Given the description of an element on the screen output the (x, y) to click on. 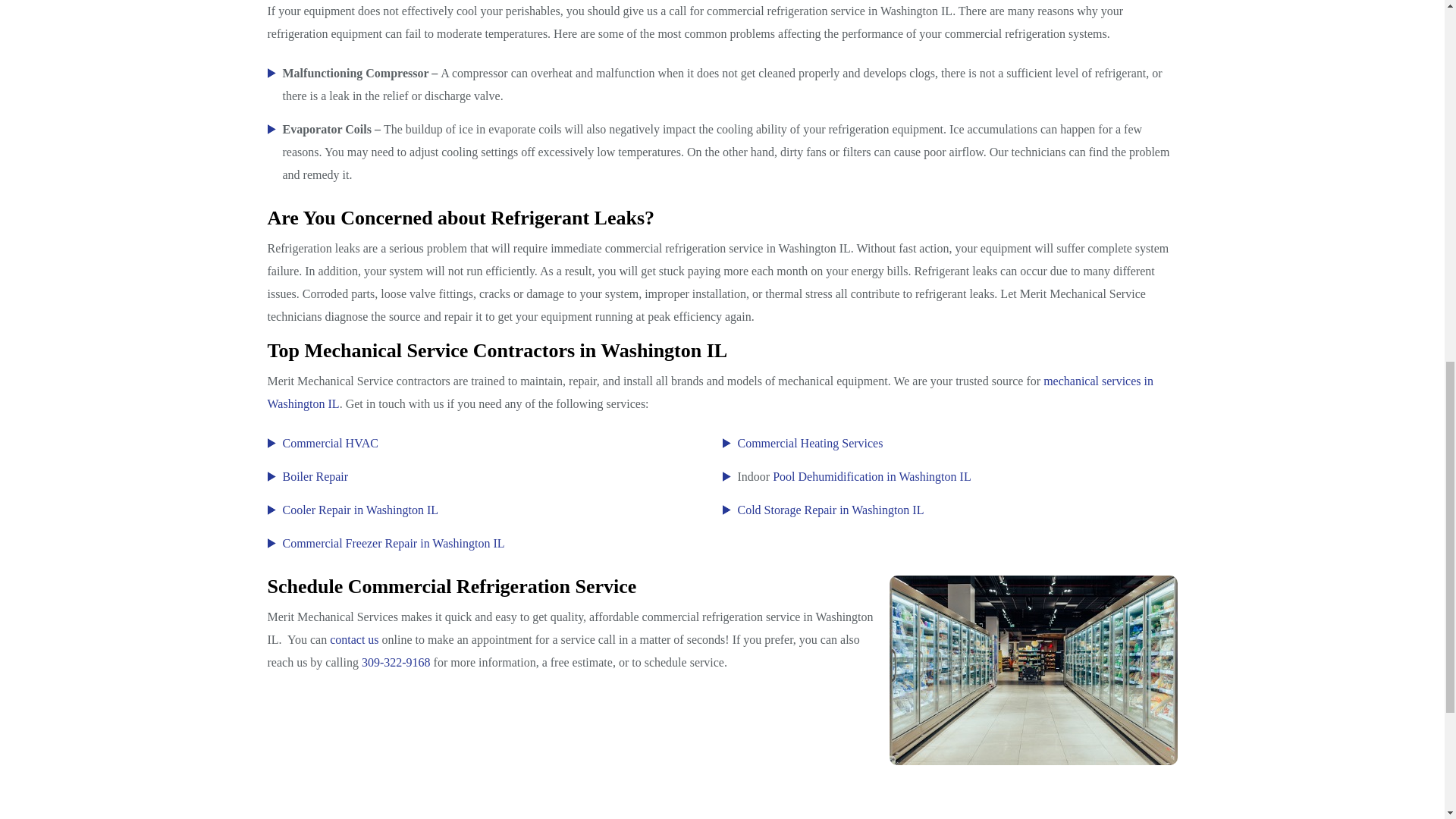
Cold Storage Repair in Washington IL (829, 509)
309-322-9168 (395, 662)
Cooler Repair in Washington IL  (361, 509)
Boiler Repair (314, 476)
Pool Dehumidification in Washington IL (872, 476)
mechanical services in Washington IL (709, 392)
Commercial Freezer Repair in Washington IL (392, 543)
Commercial HVAC (329, 442)
Commercial Heating Services (809, 442)
contact us (354, 639)
